Given the description of an element on the screen output the (x, y) to click on. 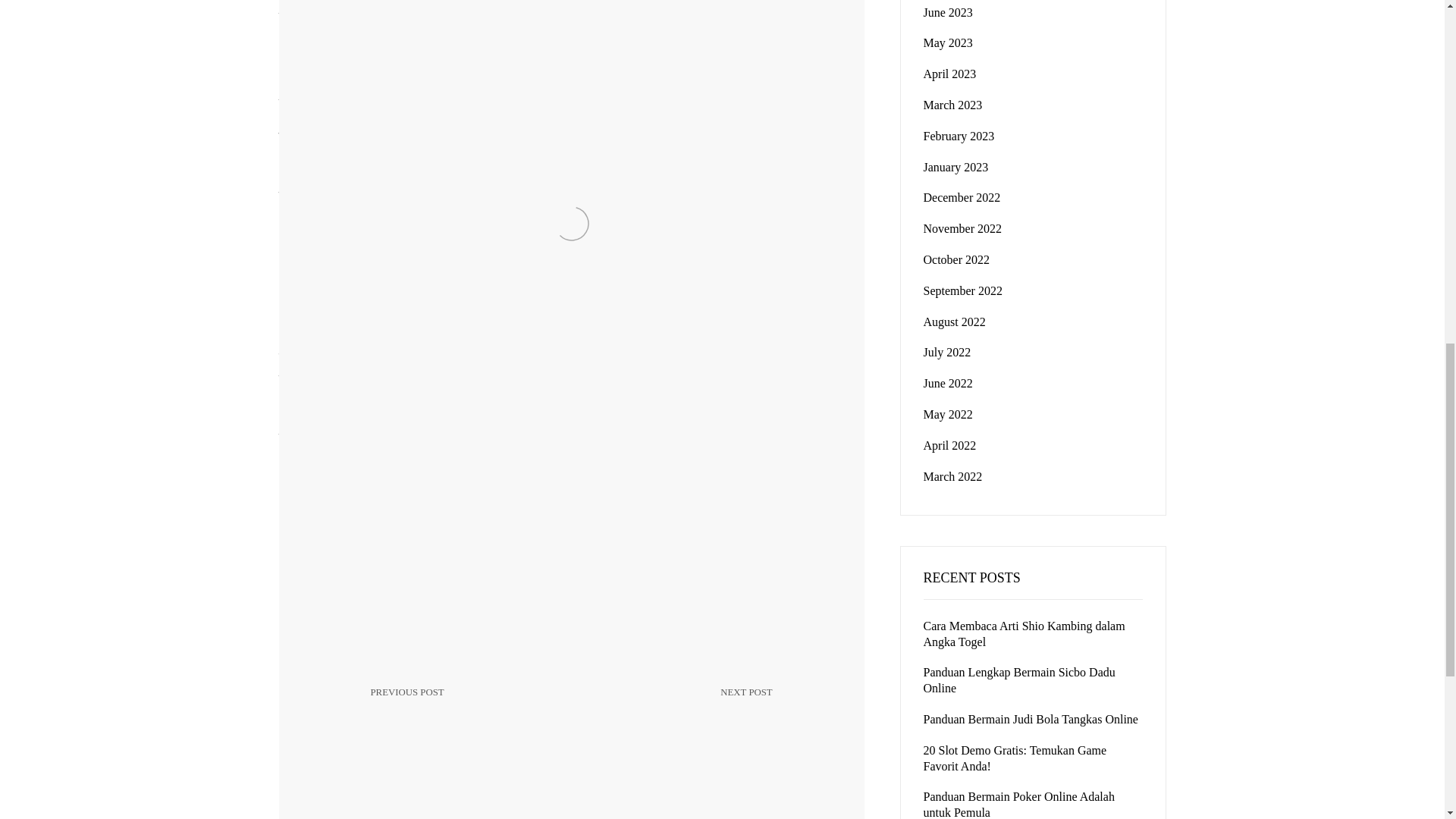
October 2022 (956, 259)
January 2023 (955, 166)
July 2022 (947, 351)
March 2023 (952, 104)
December 2022 (962, 196)
June 2023 (947, 11)
September 2022 (963, 290)
June 2022 (947, 382)
May 2023 (947, 42)
April 2023 (949, 73)
February 2023 (462, 704)
August 2022 (958, 135)
November 2022 (954, 321)
